Given the description of an element on the screen output the (x, y) to click on. 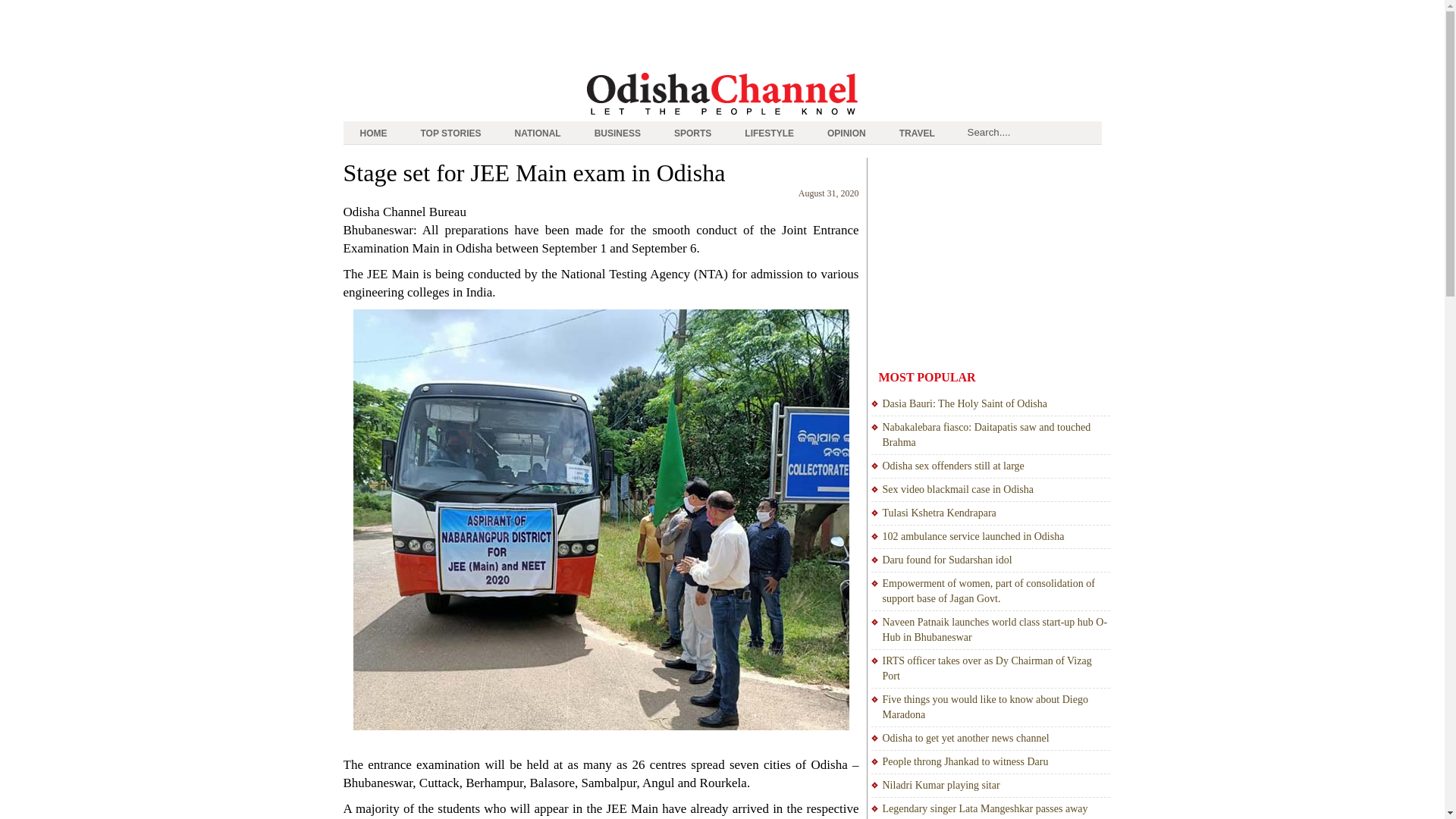
OPINION (846, 133)
TRAVEL (917, 133)
HOME (372, 133)
LIFESTYLE (769, 133)
SPORTS (693, 133)
NATIONAL (537, 133)
BUSINESS (618, 133)
Search.... (1030, 131)
Stage set for JEE Main exam in Odisha (533, 172)
TOP STORIES (450, 133)
